Given the description of an element on the screen output the (x, y) to click on. 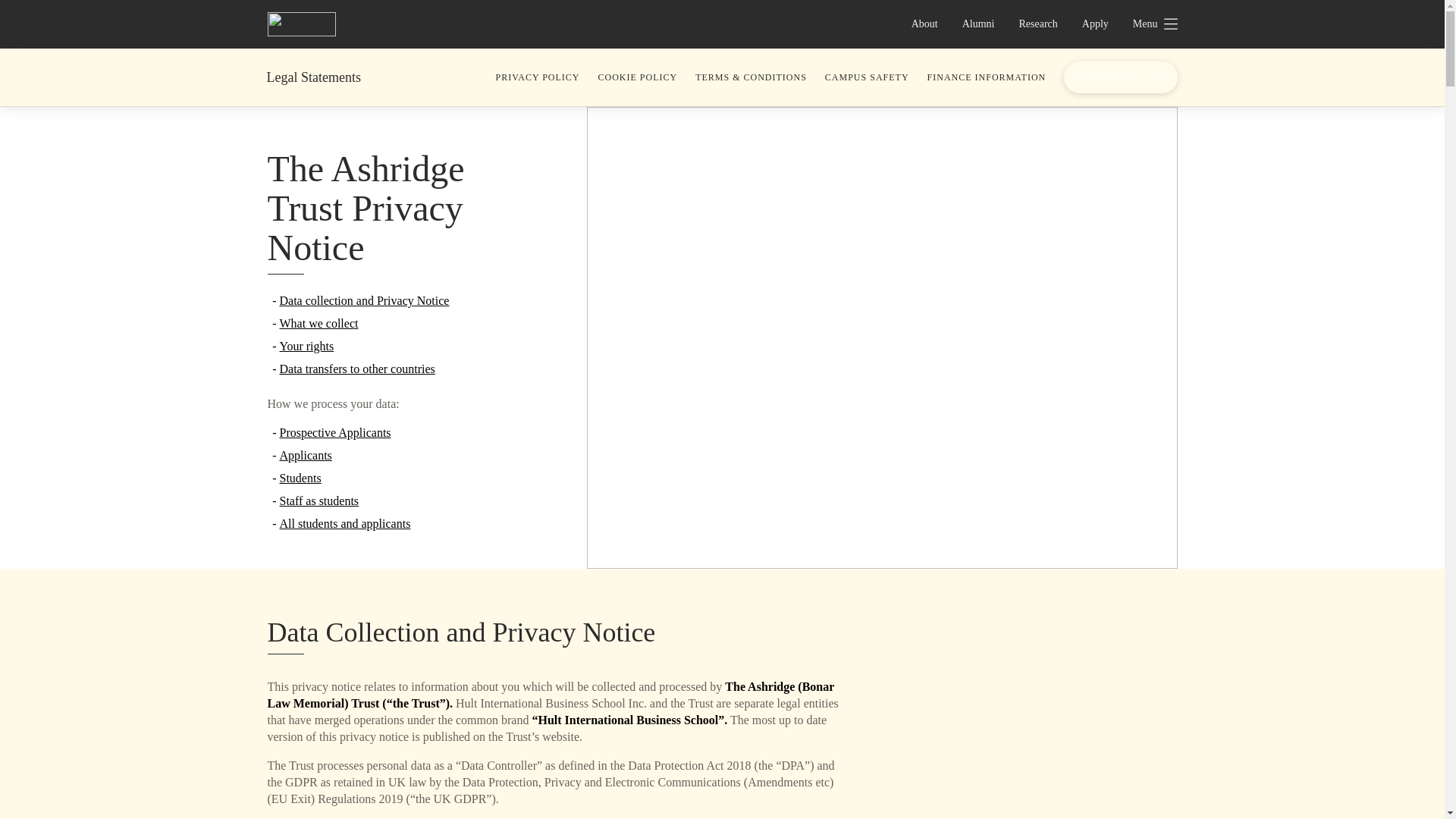
Research (1038, 24)
Alumni (978, 24)
Apply (1095, 24)
About (924, 24)
Legal Statements (313, 76)
Contact Us (1120, 77)
